Given the description of an element on the screen output the (x, y) to click on. 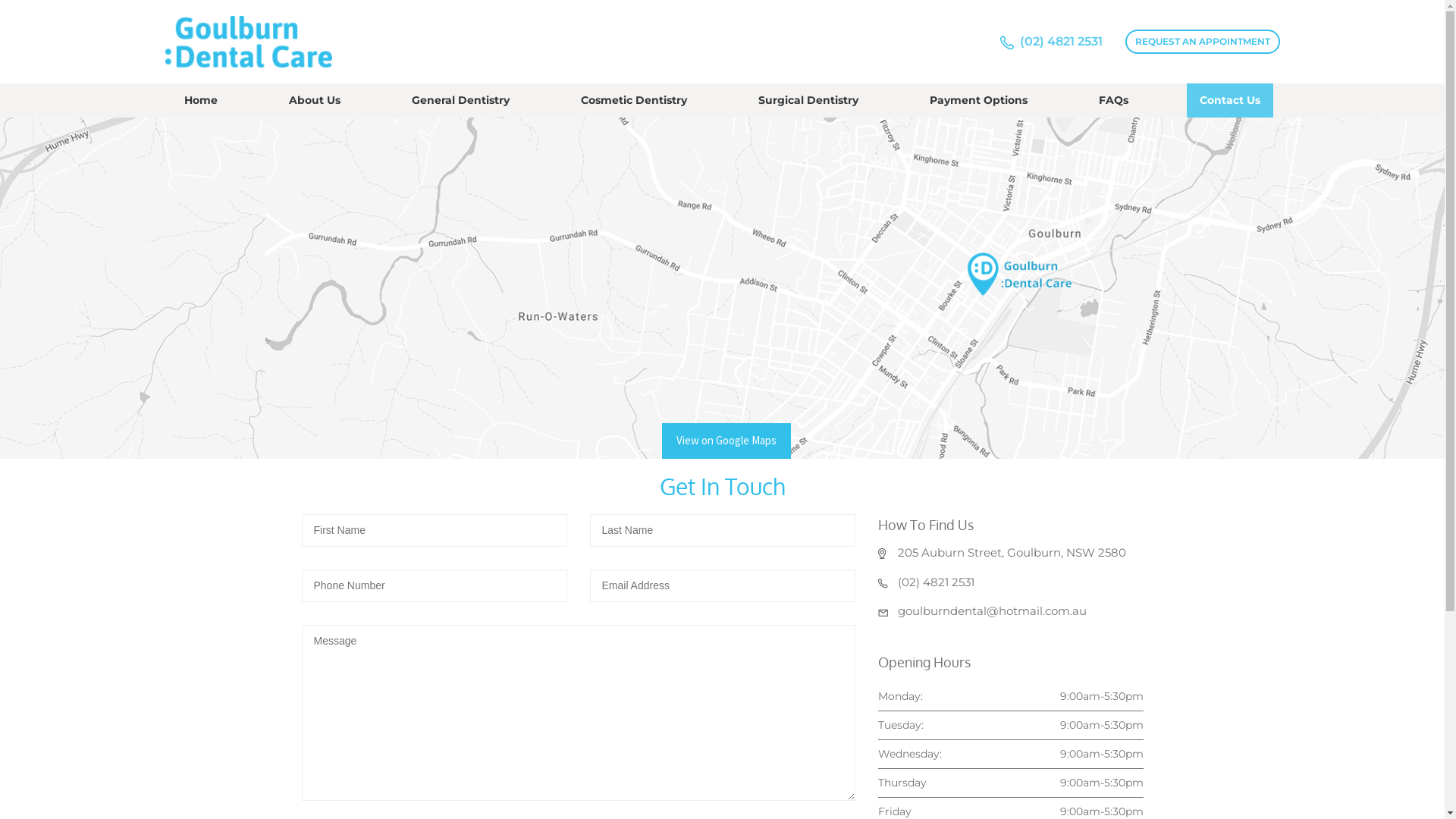
General Dentistry Element type: text (460, 100)
Payment Options Element type: text (978, 100)
Contact Us Element type: text (1229, 100)
Surgical Dentistry Element type: text (808, 100)
logo Element type: hover (248, 39)
About Us Element type: text (314, 100)
FAQs Element type: text (1113, 100)
goulburndental@hotmail.com.au Element type: text (991, 610)
(02) 4821 2531 Element type: text (935, 581)
Cosmetic Dentistry Element type: text (633, 100)
(02) 4821 2531 Element type: text (1060, 41)
Home Element type: text (200, 100)
REQUEST AN APPOINTMENT Element type: text (1202, 41)
